Given the description of an element on the screen output the (x, y) to click on. 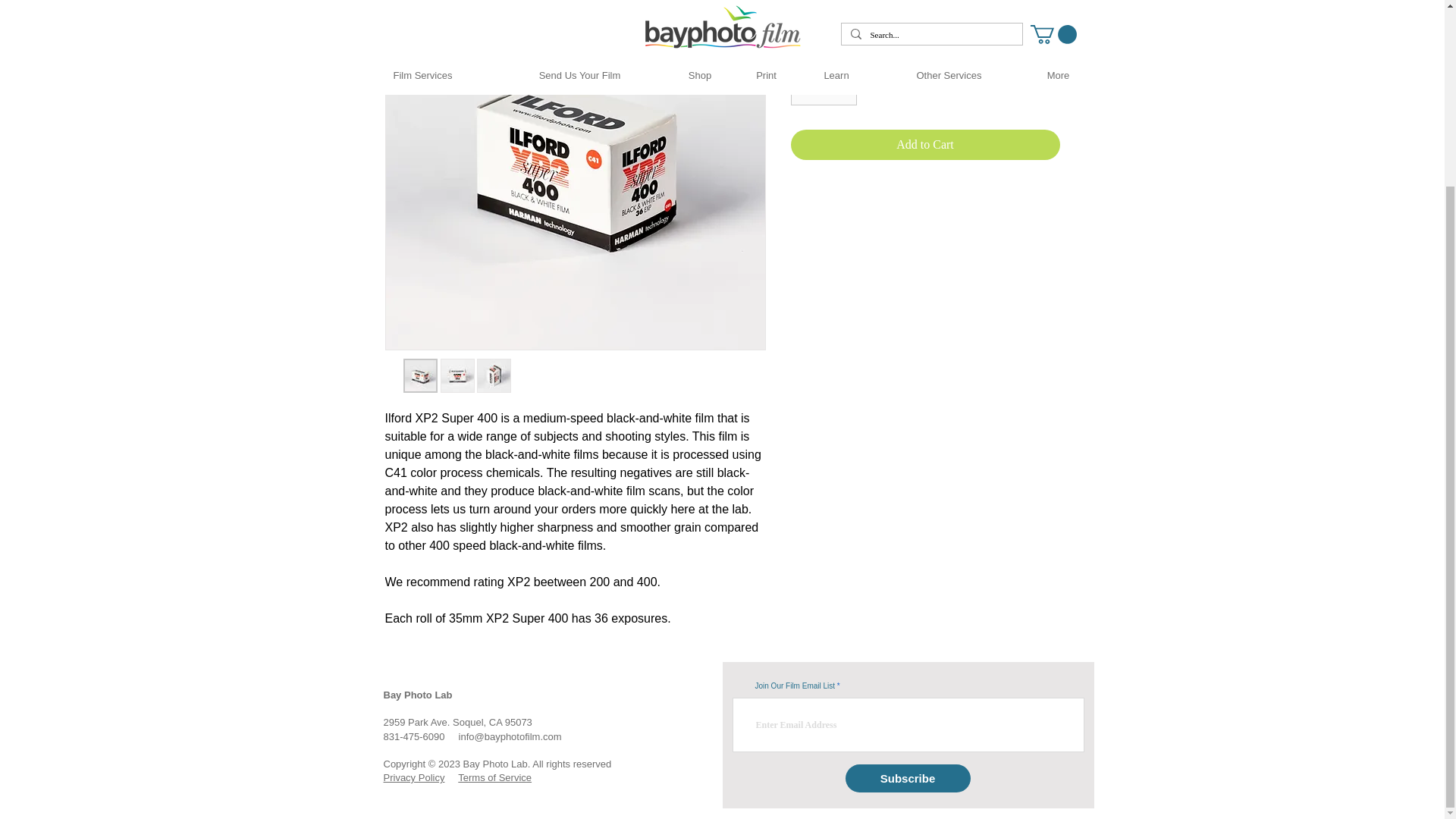
Enter Email Address (908, 724)
Terms of Service (494, 777)
Subscribe (906, 778)
1 (823, 86)
Add to Cart (924, 144)
Privacy Policy (414, 777)
